Given the description of an element on the screen output the (x, y) to click on. 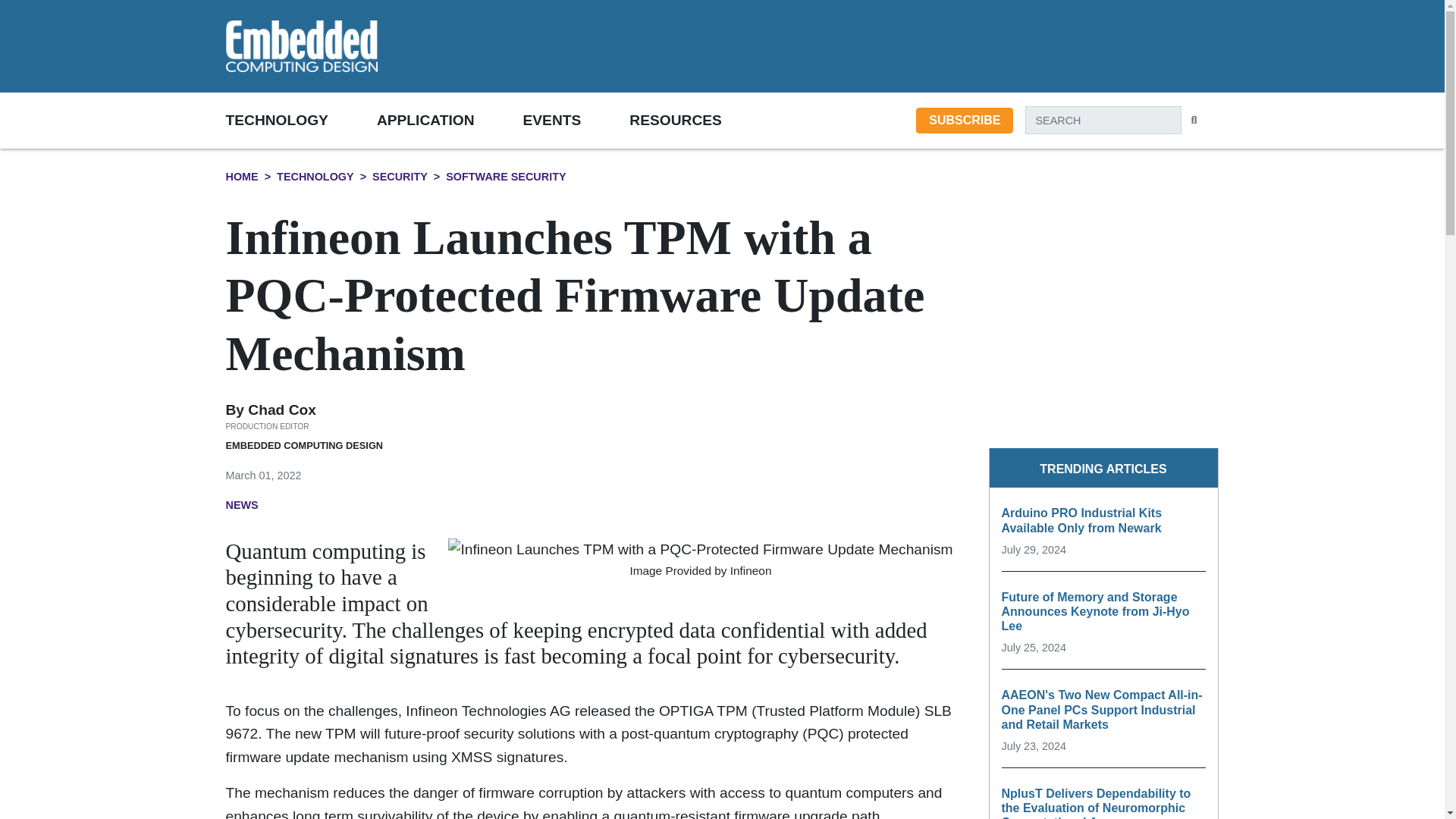
EVENTS (576, 120)
TECHNOLOGY (301, 120)
RESOURCES (699, 120)
APPLICATION (449, 120)
